Given the description of an element on the screen output the (x, y) to click on. 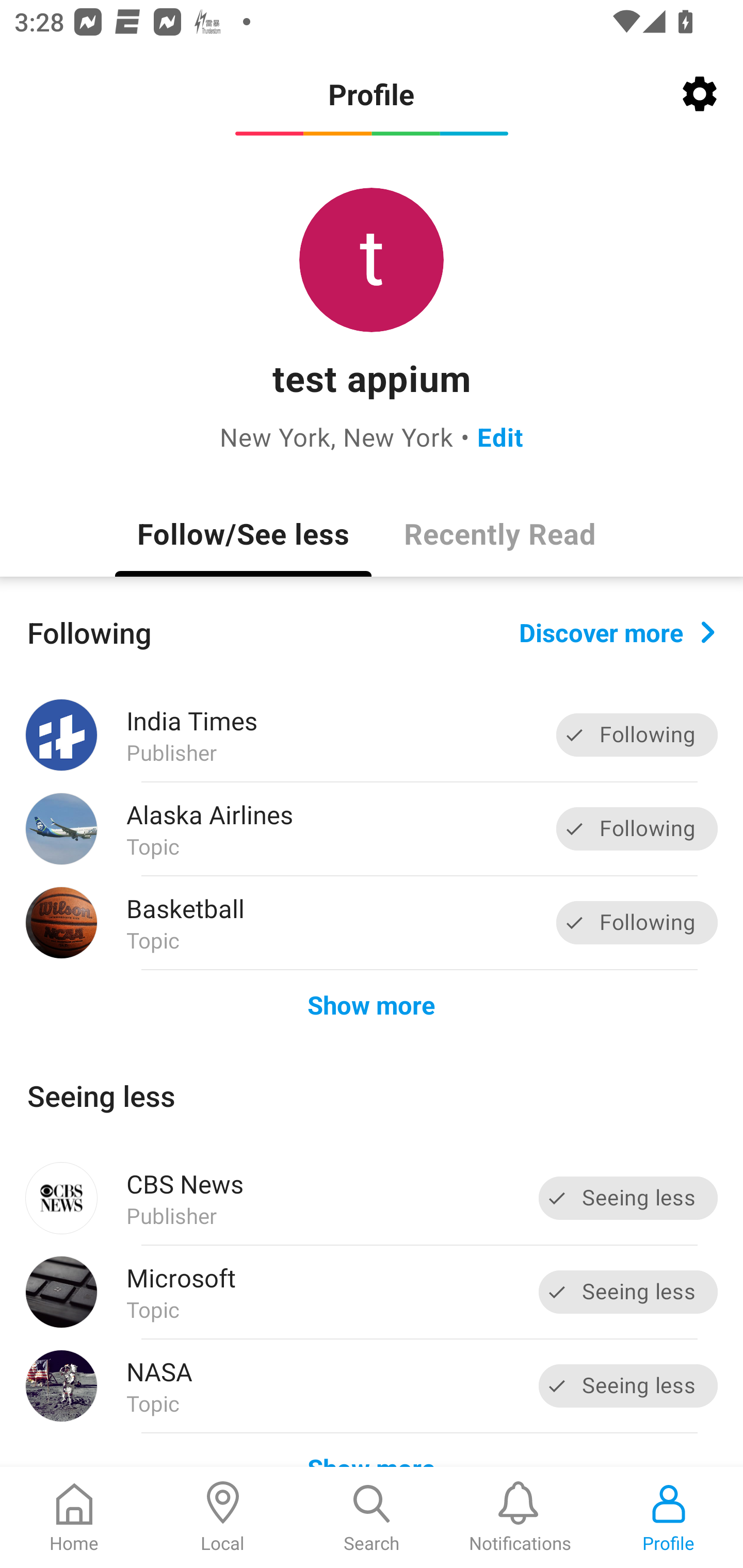
Settings (699, 93)
Edit (500, 436)
Recently Read (499, 533)
Discover more (617, 631)
India Times Publisher Following (371, 735)
Following (636, 735)
Alaska Airlines Topic Following (371, 829)
Following (636, 828)
Basketball Topic Following (371, 922)
Following (636, 922)
Show more (371, 1004)
CBS News Publisher Seeing less (371, 1197)
Seeing less (627, 1197)
Microsoft Topic Seeing less (371, 1291)
Seeing less (627, 1291)
NASA Topic Seeing less (371, 1386)
Seeing less (627, 1386)
Home (74, 1517)
Local (222, 1517)
Search (371, 1517)
Notifications (519, 1517)
